Given the description of an element on the screen output the (x, y) to click on. 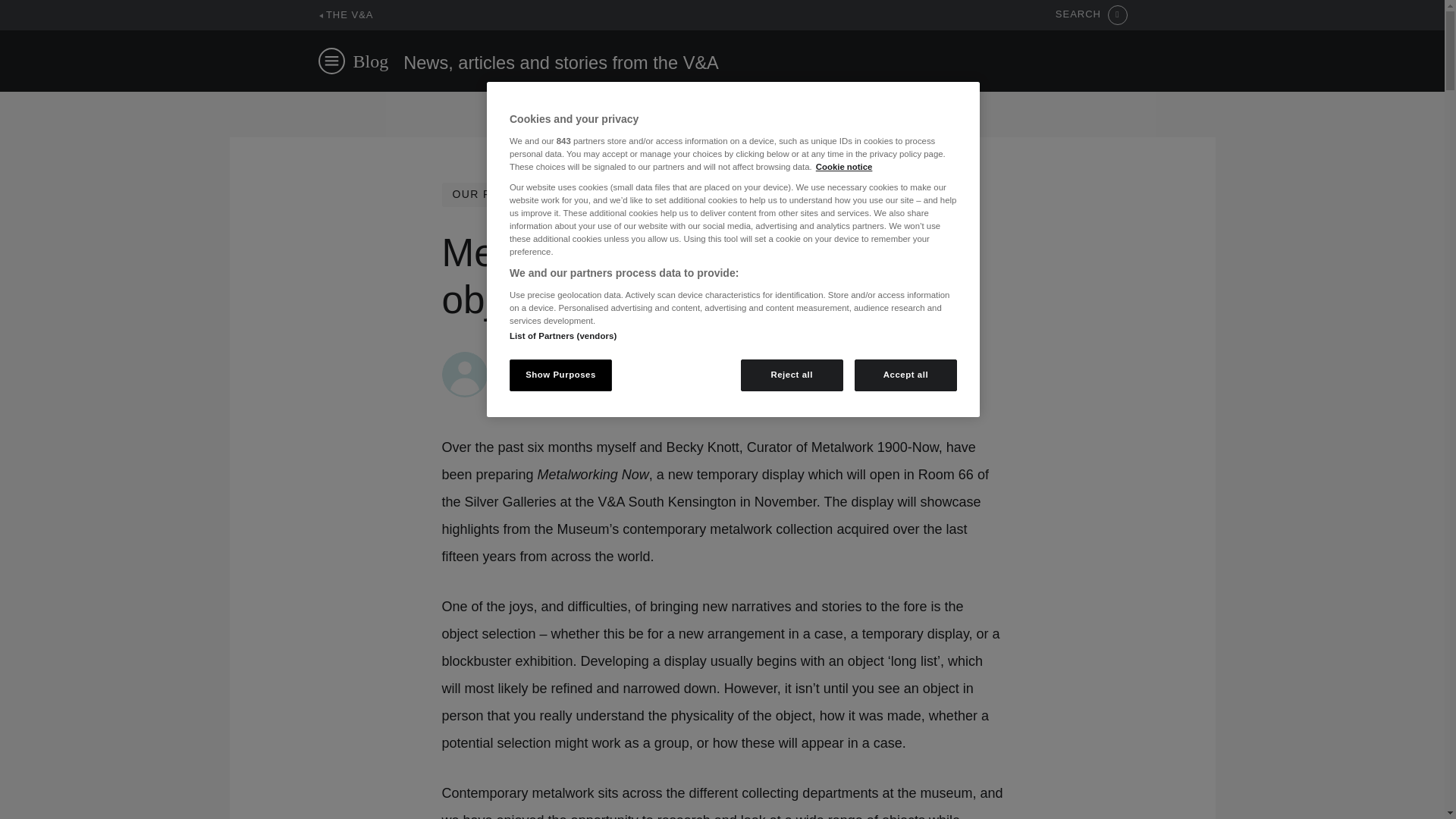
SEARCH (1090, 15)
OUR PROJECTS (499, 194)
Blog (370, 60)
Clementine Loustric (550, 359)
Posts by Clementine Loustric (550, 359)
